Given the description of an element on the screen output the (x, y) to click on. 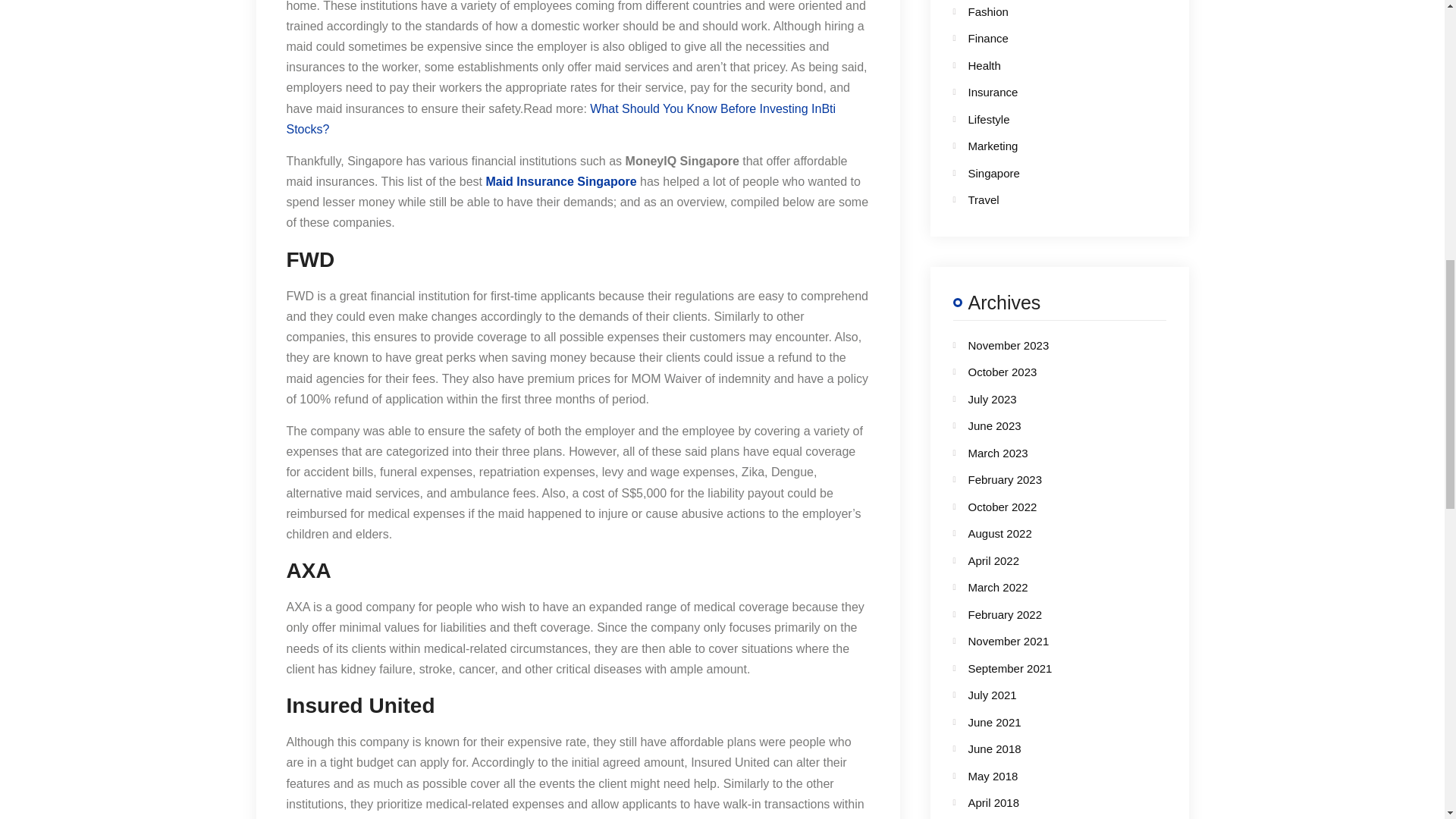
Marketing (1046, 146)
Finance (1046, 38)
Travel (1046, 199)
Maid Insurance Singapore (560, 181)
What Should You Know Before Investing InBti Stocks? (560, 118)
Fashion (1046, 11)
Singapore (1046, 173)
Insurance (1046, 92)
Health (1046, 66)
Lifestyle (1046, 118)
